Given the description of an element on the screen output the (x, y) to click on. 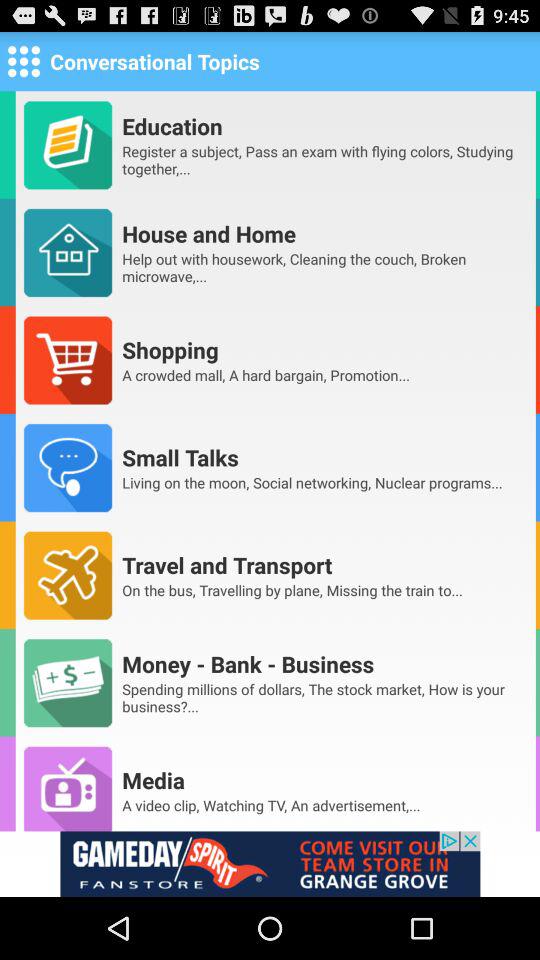
advertisement (270, 864)
